Given the description of an element on the screen output the (x, y) to click on. 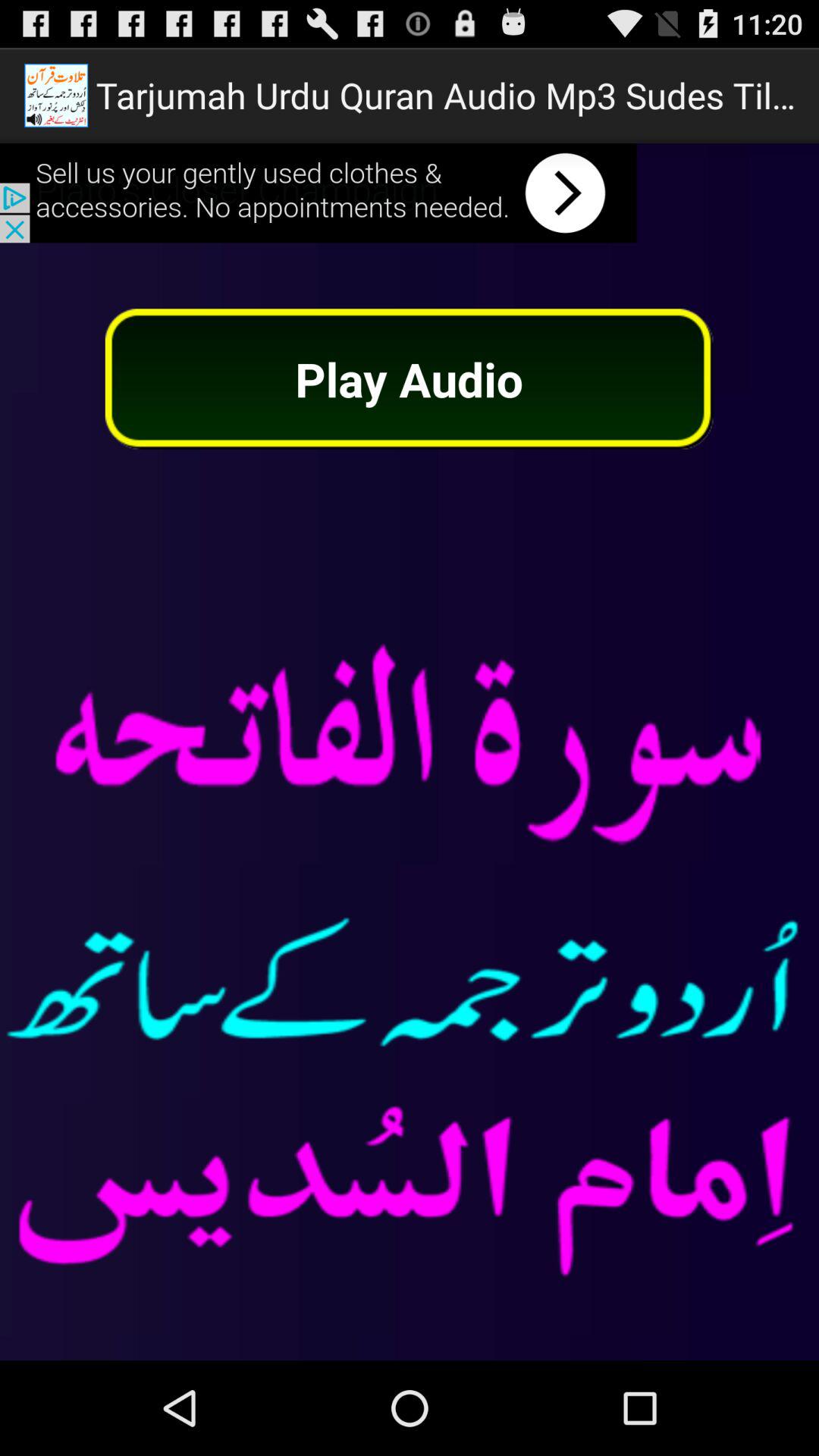
go to back (318, 192)
